Given the description of an element on the screen output the (x, y) to click on. 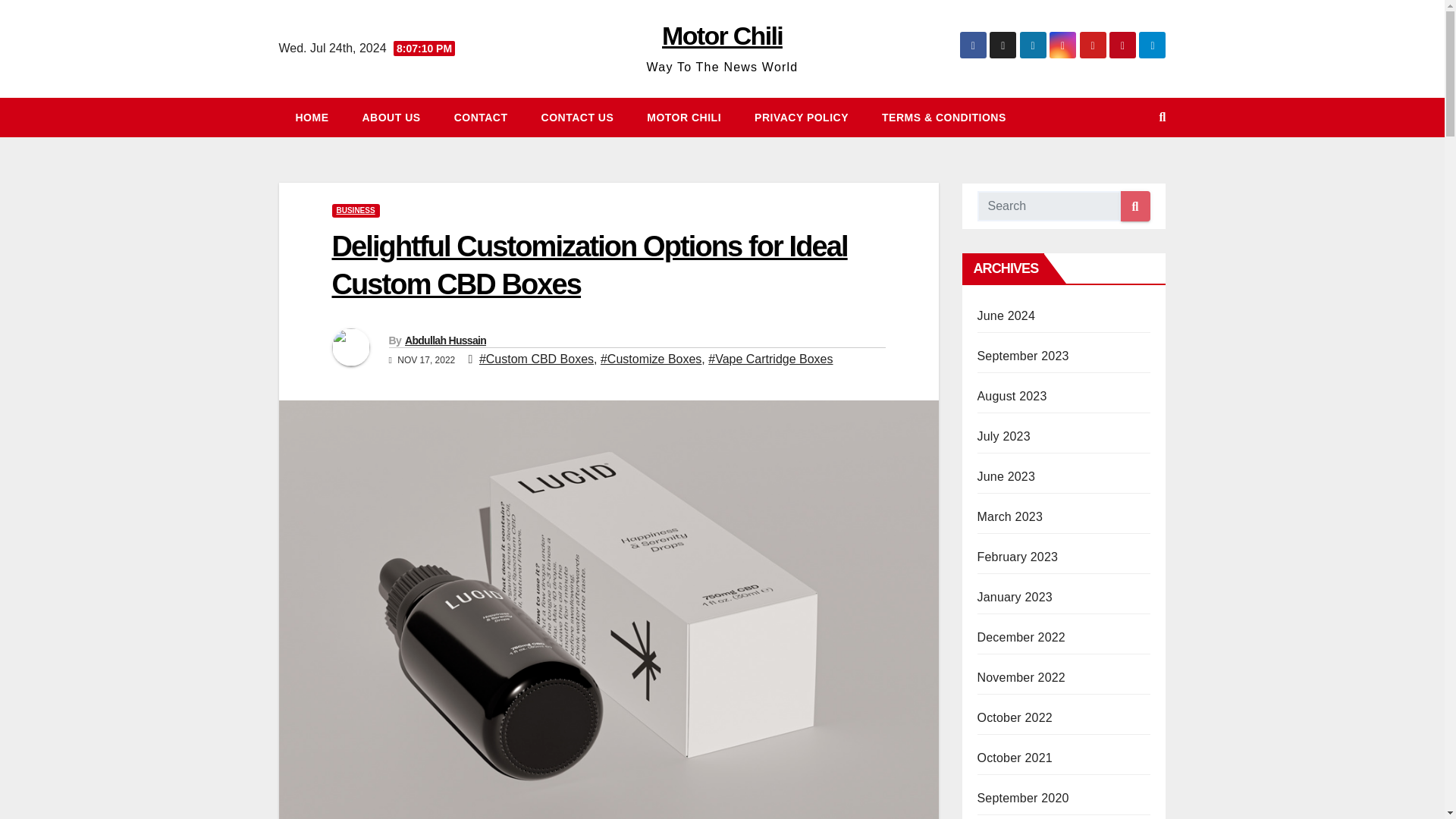
Home (312, 117)
Motor Chili (722, 35)
ABOUT US (392, 117)
BUSINESS (355, 210)
HOME (312, 117)
PRIVACY POLICY (801, 117)
Delightful Customization Options for Ideal Custom CBD Boxes (589, 264)
CONTACT US (577, 117)
CONTACT (481, 117)
Abdullah Hussain (445, 340)
MOTOR CHILI (684, 117)
